Given the description of an element on the screen output the (x, y) to click on. 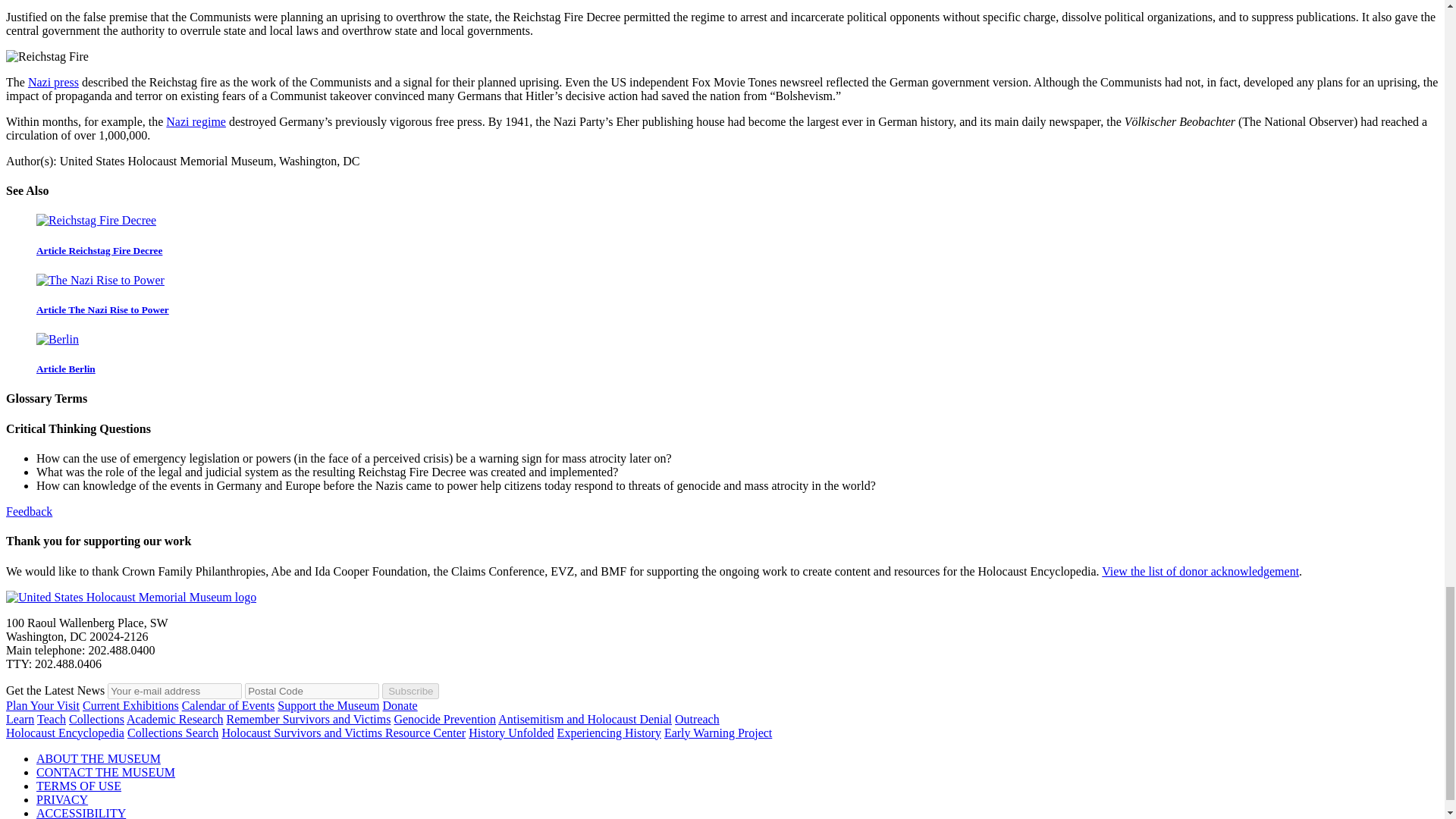
Subscribe (410, 690)
